Given the description of an element on the screen output the (x, y) to click on. 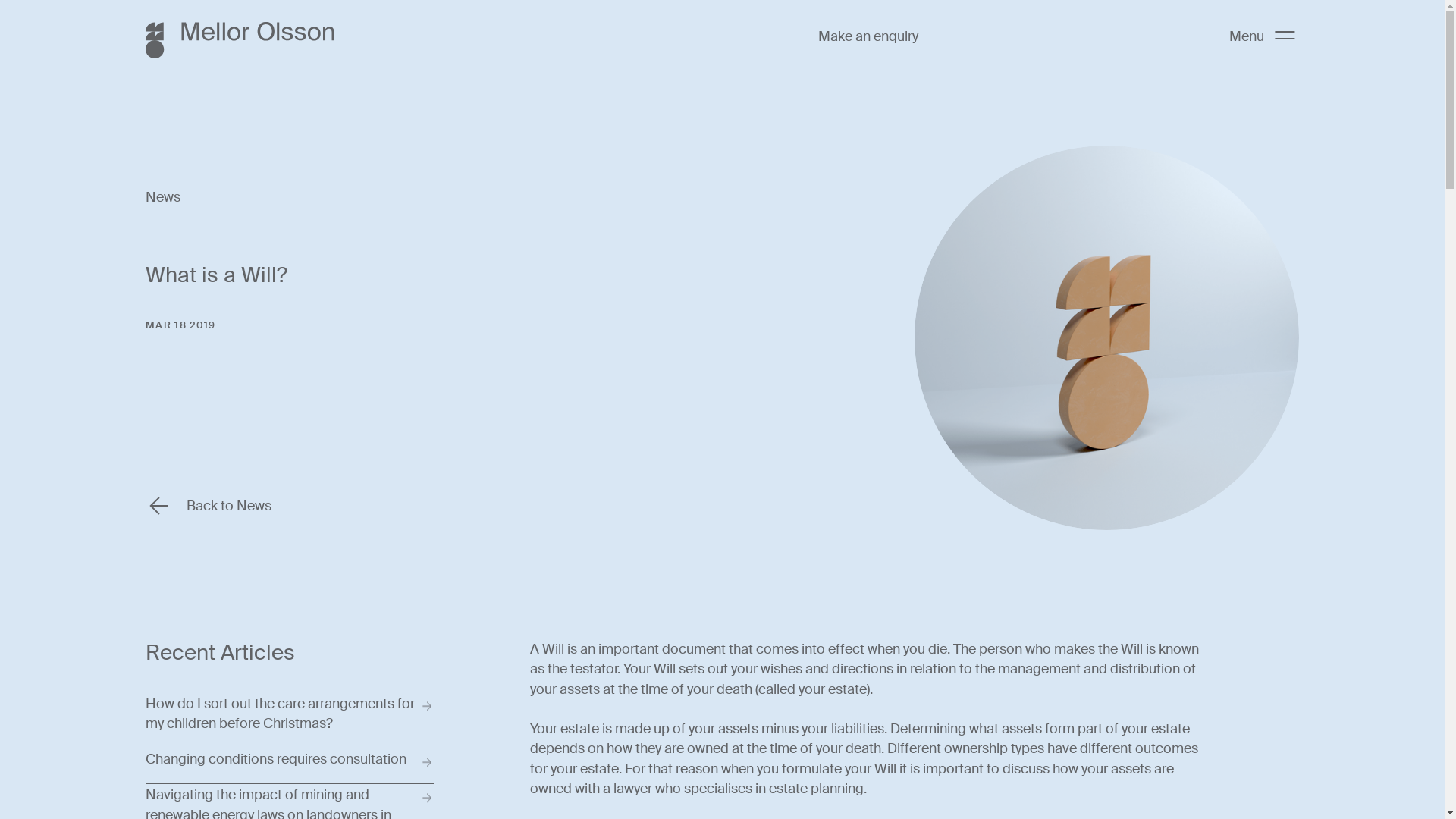
Back to News Element type: text (208, 505)
Menu Element type: text (1261, 36)
Make an enquiry Element type: text (868, 36)
Changing conditions requires consultation Element type: text (289, 765)
